Given the description of an element on the screen output the (x, y) to click on. 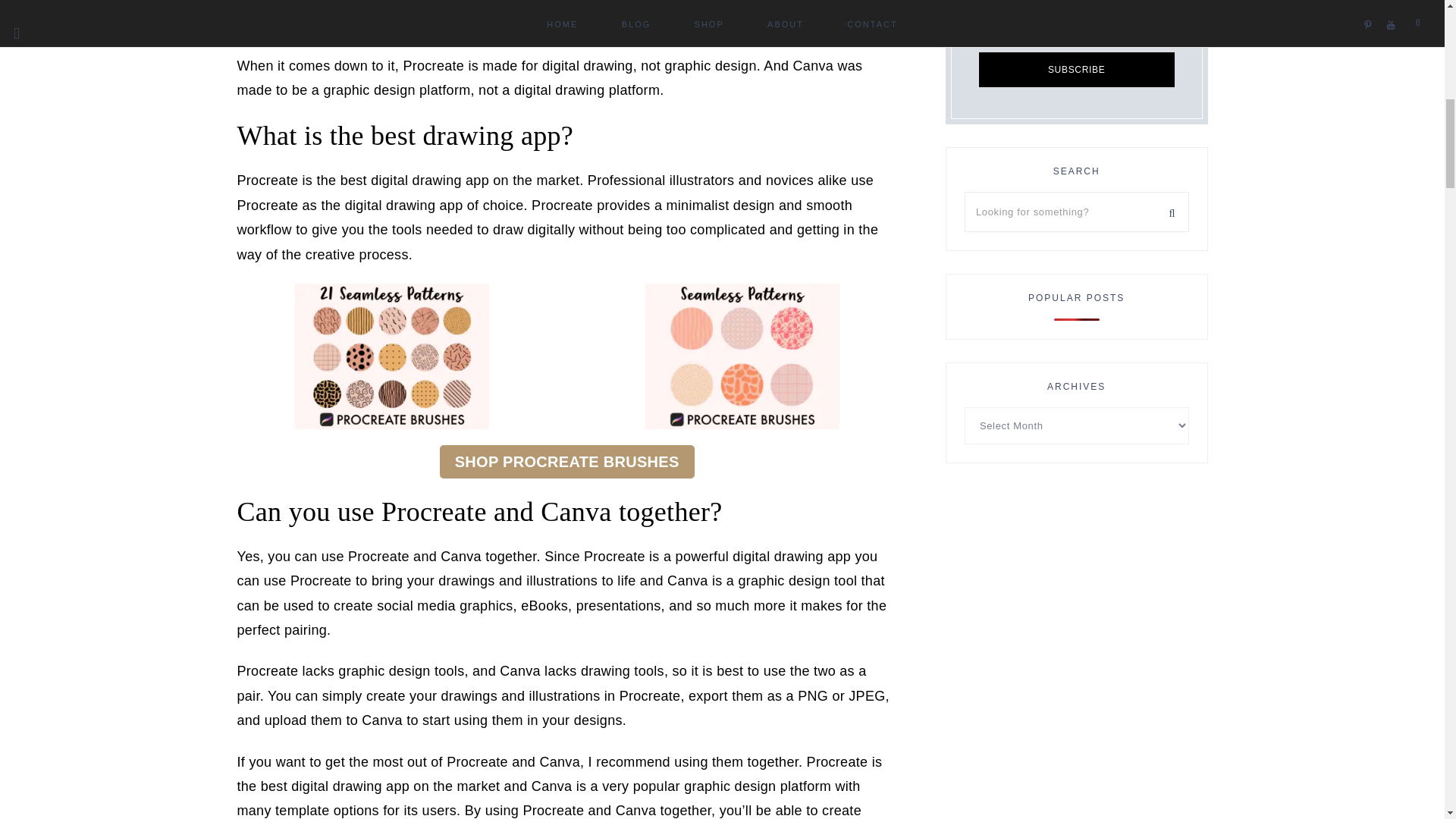
Subscribe (1076, 69)
SHOP PROCREATE BRUSHES (566, 461)
